Given the description of an element on the screen output the (x, y) to click on. 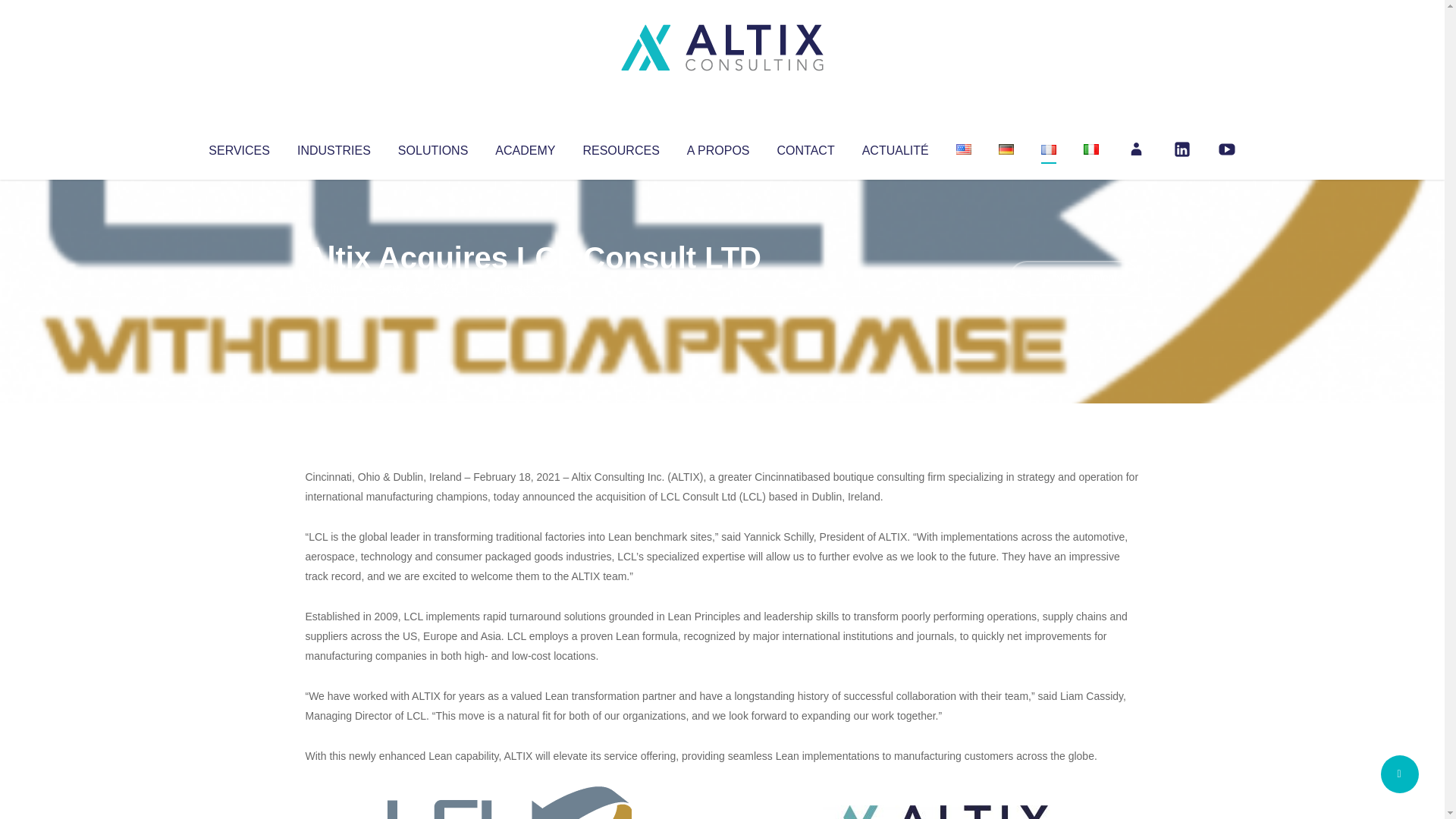
Articles par Altix (333, 287)
SOLUTIONS (432, 146)
Altix (333, 287)
INDUSTRIES (334, 146)
A PROPOS (718, 146)
RESOURCES (620, 146)
No Comments (1073, 278)
ACADEMY (524, 146)
Uncategorized (530, 287)
SERVICES (238, 146)
